Given the description of an element on the screen output the (x, y) to click on. 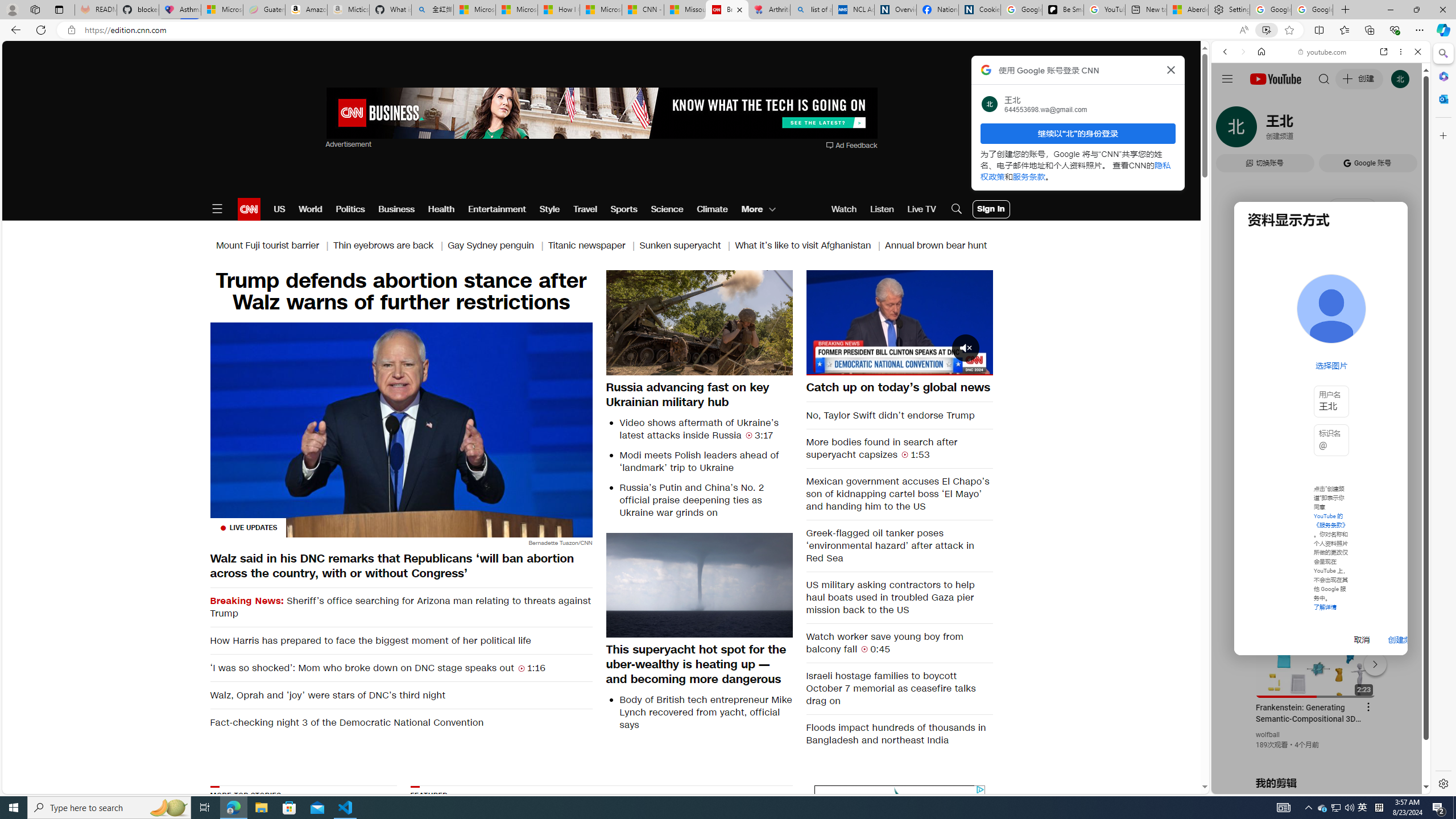
Pause (898, 321)
Listen (881, 208)
Style (549, 209)
Captions Unavailable (927, 365)
